Given the description of an element on the screen output the (x, y) to click on. 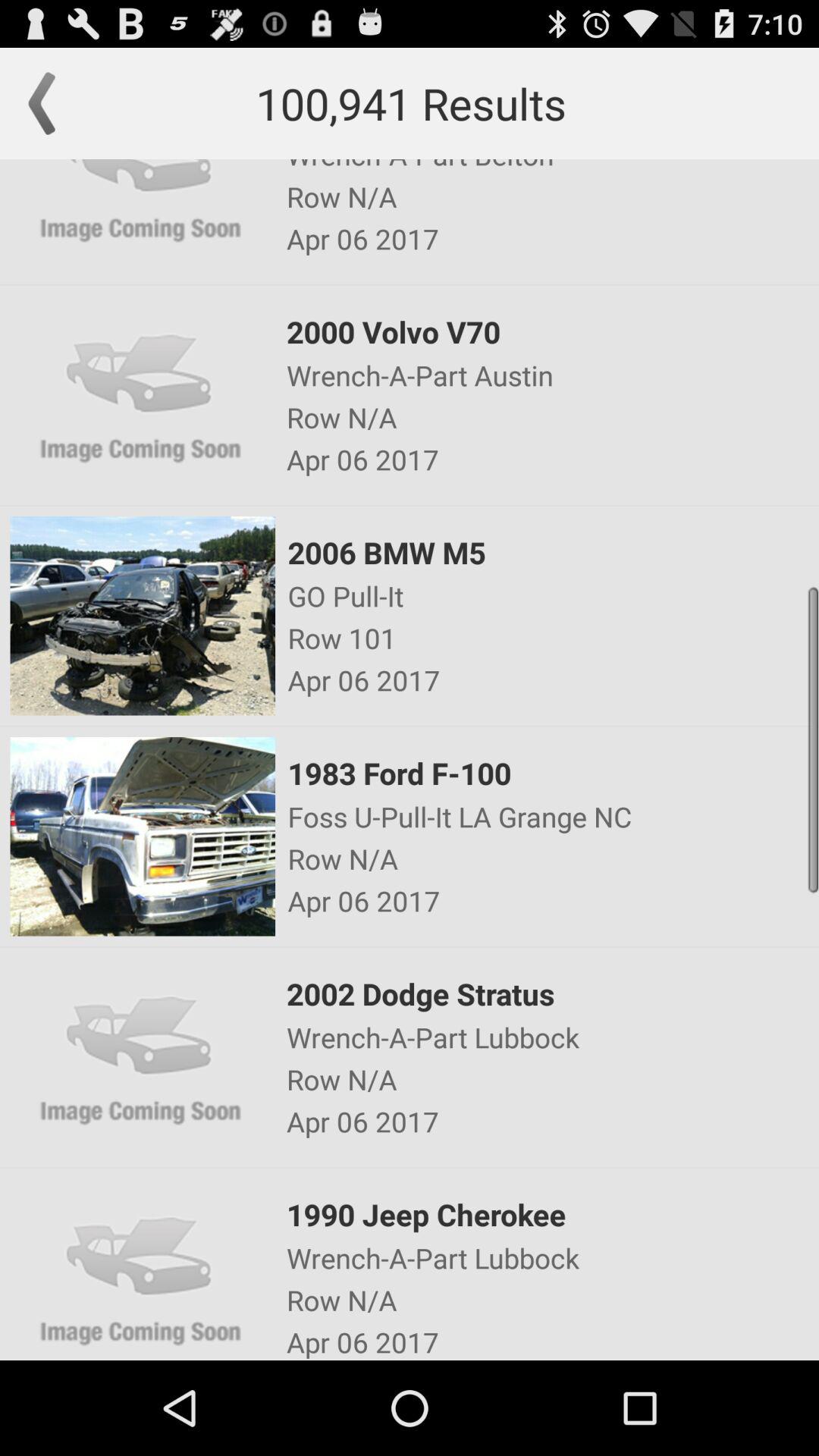
swipe until the 2002 dodge stratus item (551, 993)
